Given the description of an element on the screen output the (x, y) to click on. 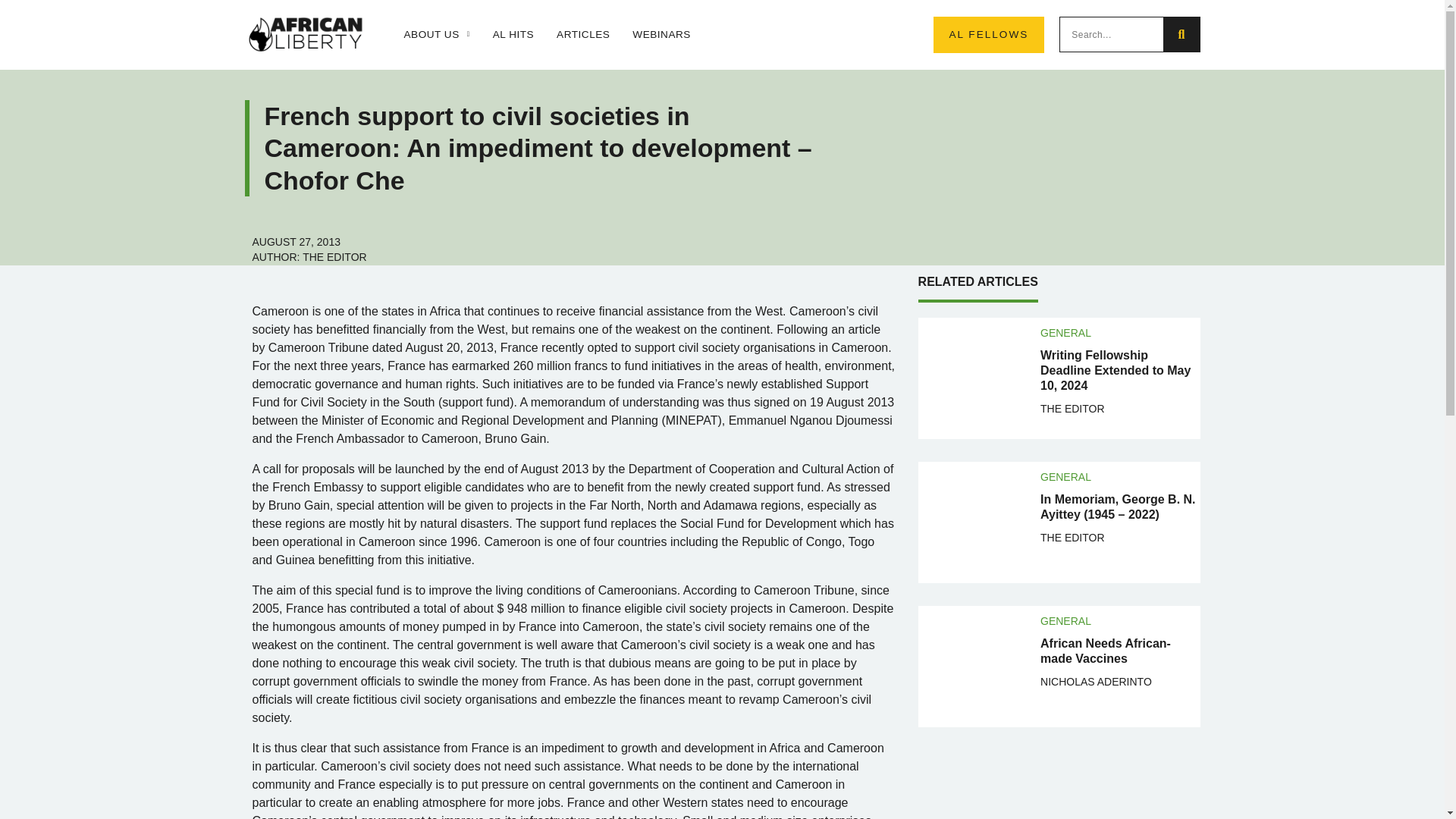
ARTICLES (583, 34)
WEBINARS (660, 34)
AL FELLOWS (988, 34)
AL HITS (513, 34)
ABOUT US (435, 34)
